Given the description of an element on the screen output the (x, y) to click on. 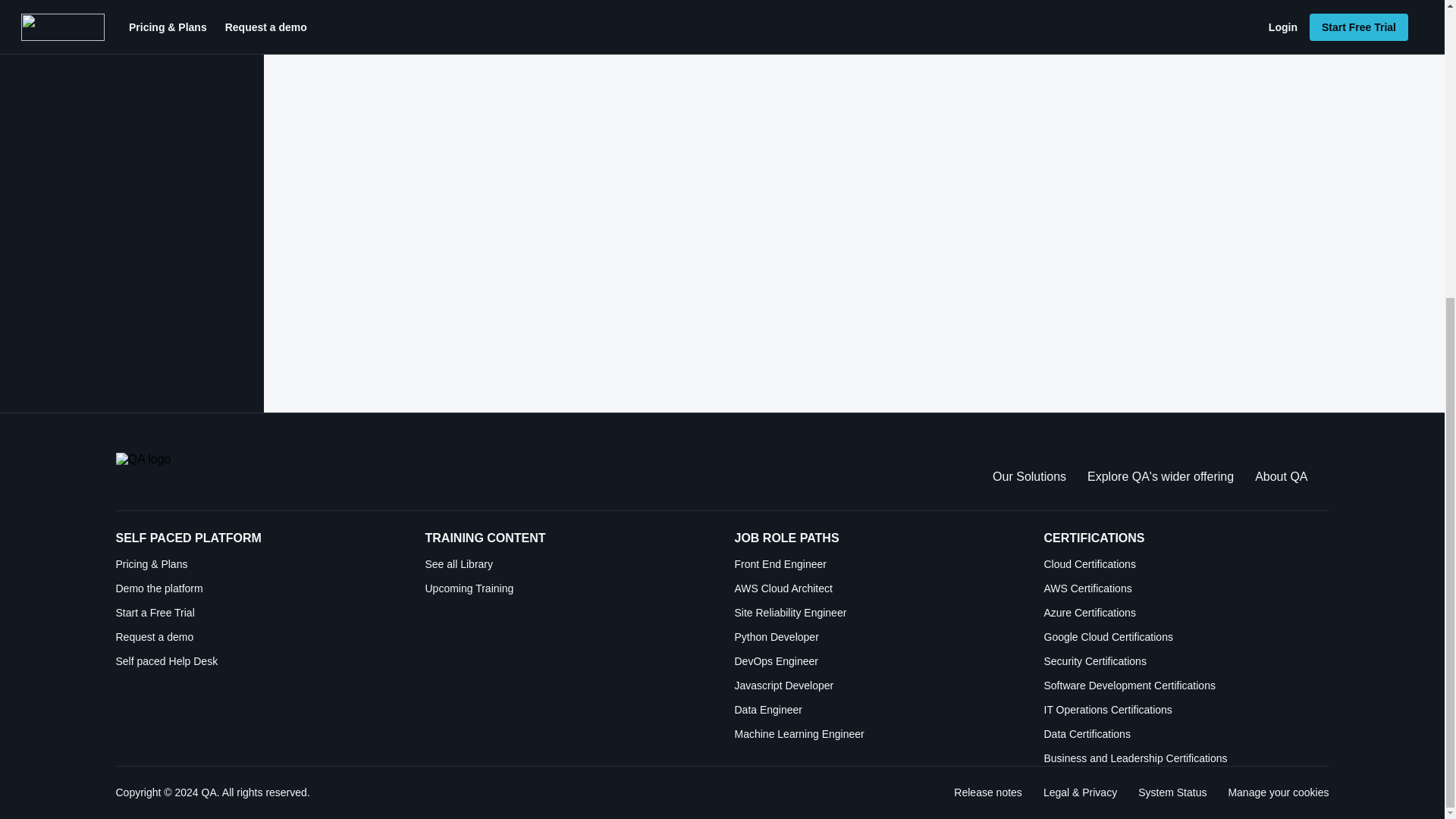
Request a demo (257, 636)
Software Development Certifications (1185, 685)
Google Cloud Certifications (1185, 636)
Data Engineer (876, 709)
Azure Certifications (1185, 612)
Demo the platform (257, 588)
Manage your cookies (1277, 792)
Front End Engineer (876, 563)
Cloud Certifications (1185, 563)
Business and Leadership Certifications (1185, 758)
